Given the description of an element on the screen output the (x, y) to click on. 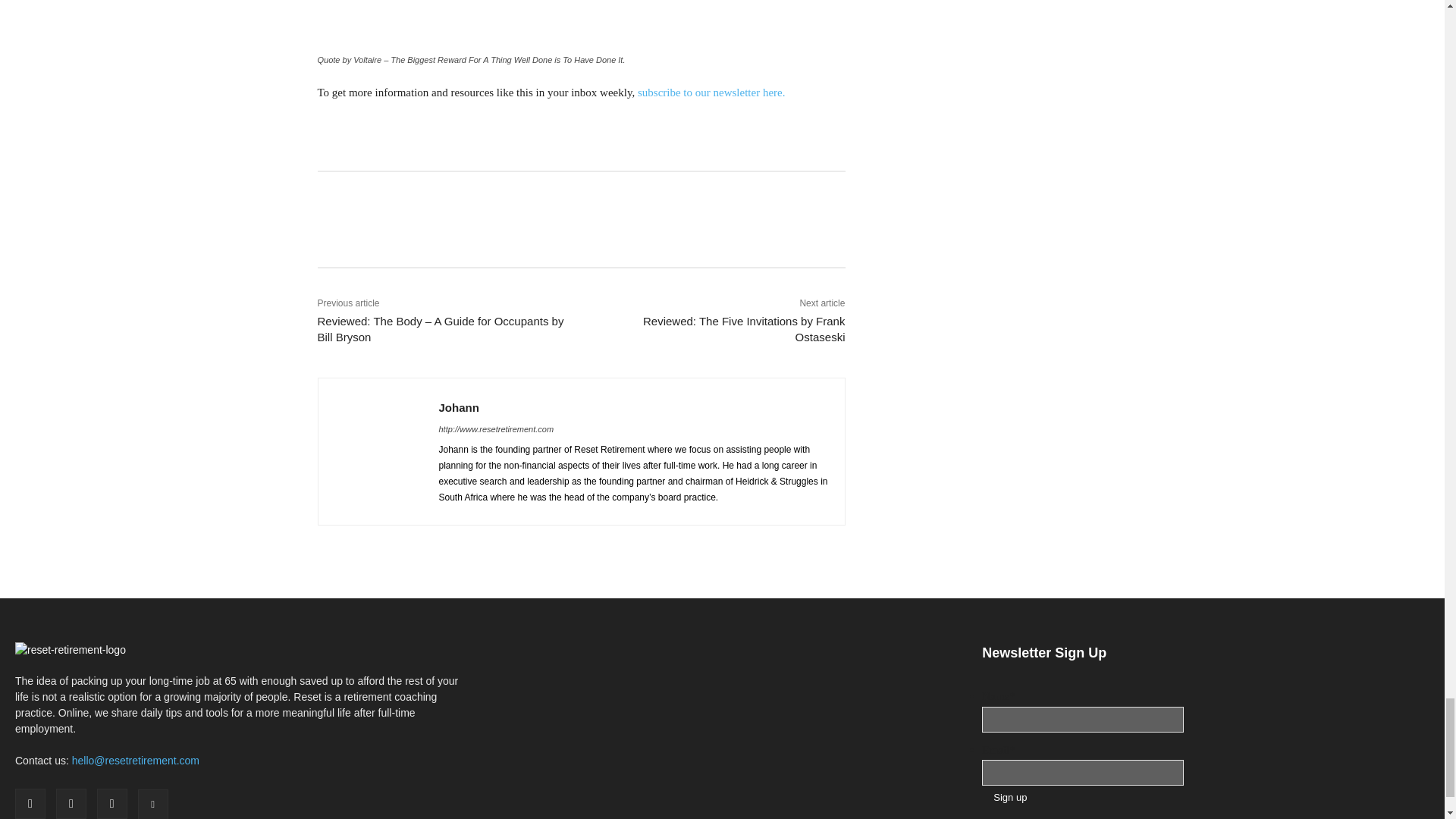
Sign up (1009, 797)
